Given the description of an element on the screen output the (x, y) to click on. 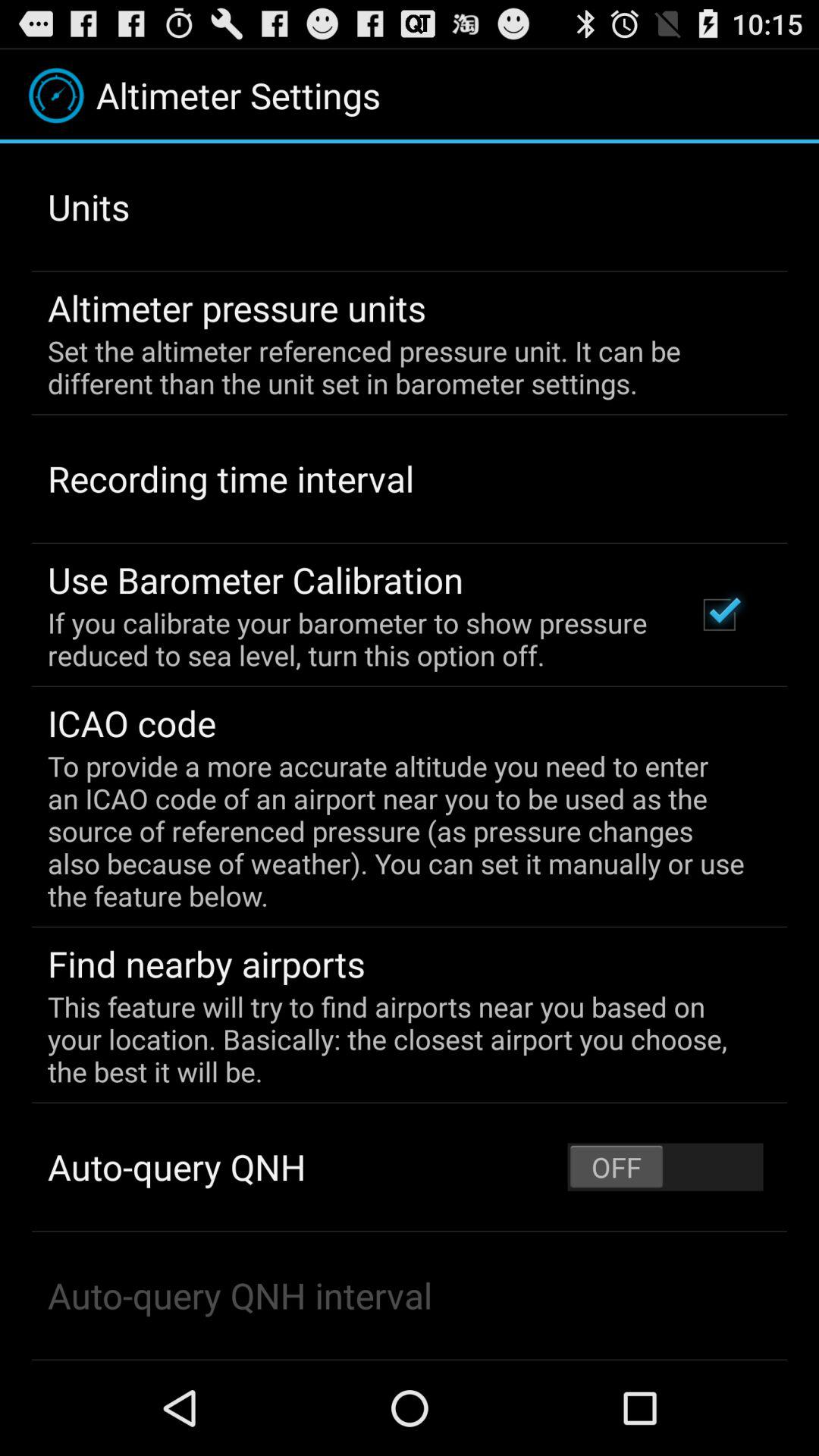
select icon on the right (719, 614)
